Given the description of an element on the screen output the (x, y) to click on. 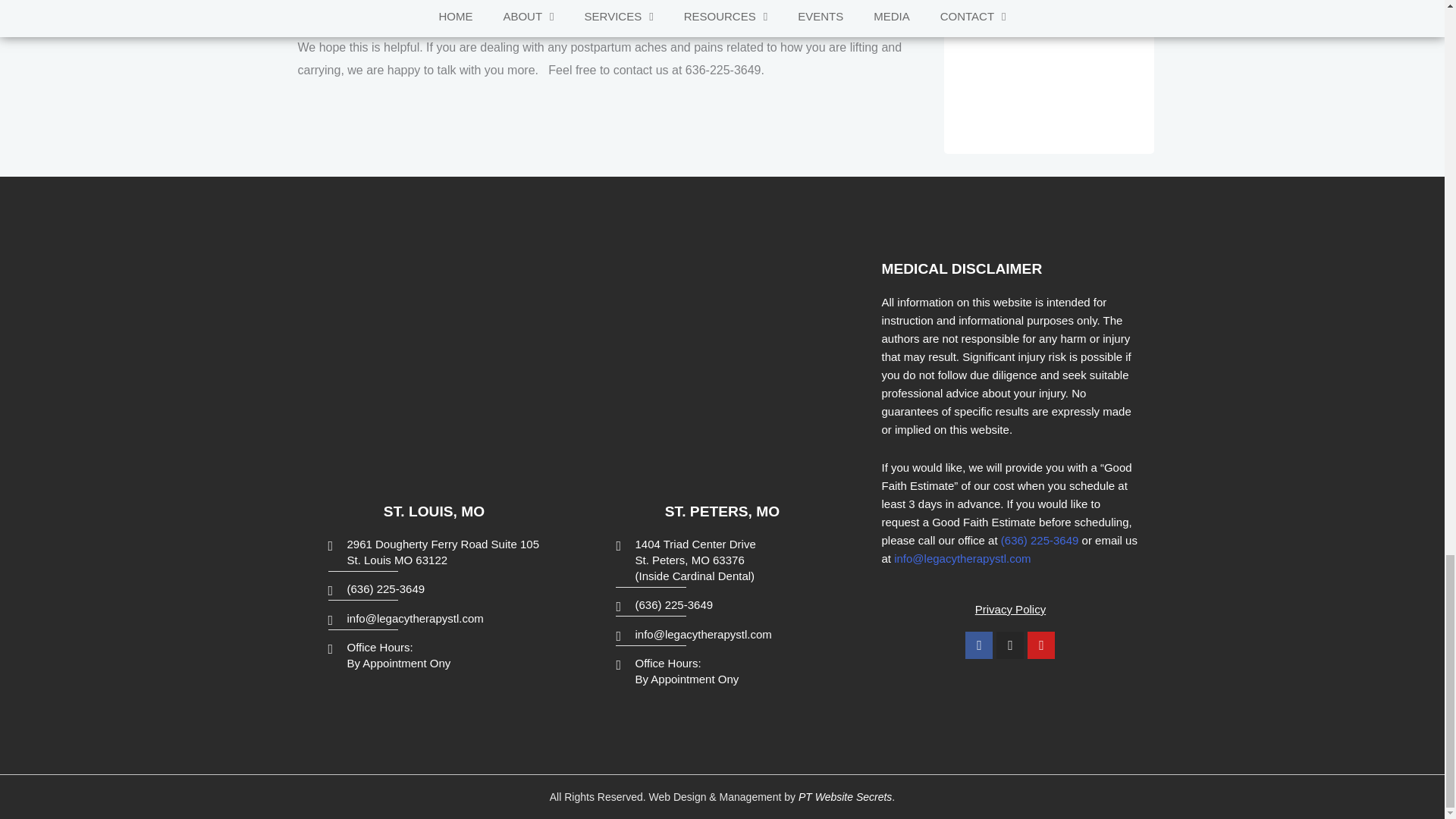
Self Care (616, 18)
